Given the description of an element on the screen output the (x, y) to click on. 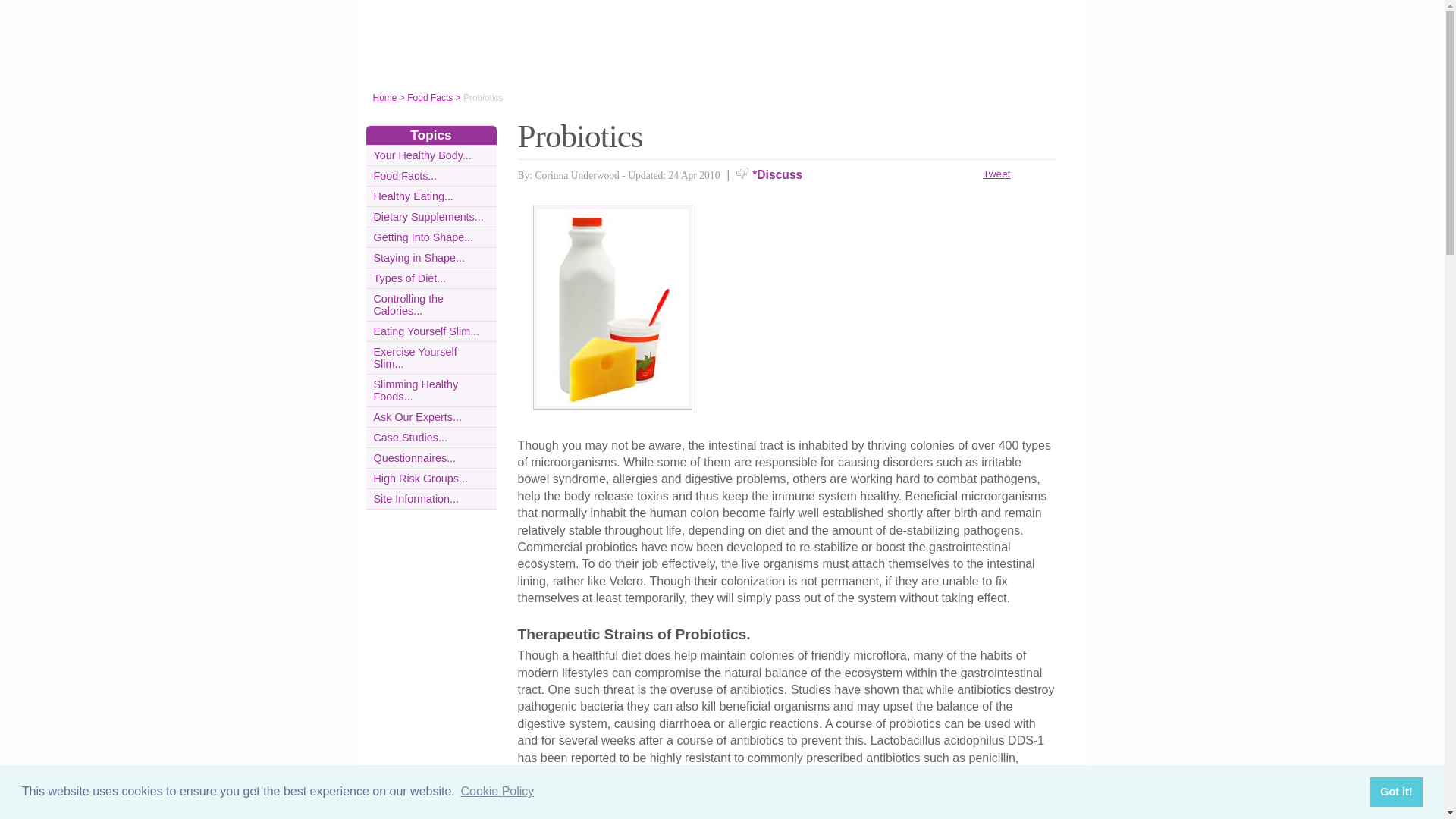
Slimming Healthy Foods... (415, 390)
Advertisement (889, 311)
Cookie Policy (496, 791)
Dietary Supplements... (427, 216)
Healthy Eating... (412, 196)
Eating Yourself Slim... (425, 331)
Types of Diet... (408, 277)
Home (384, 97)
Food Facts... (404, 175)
Food Facts (429, 97)
